Given the description of an element on the screen output the (x, y) to click on. 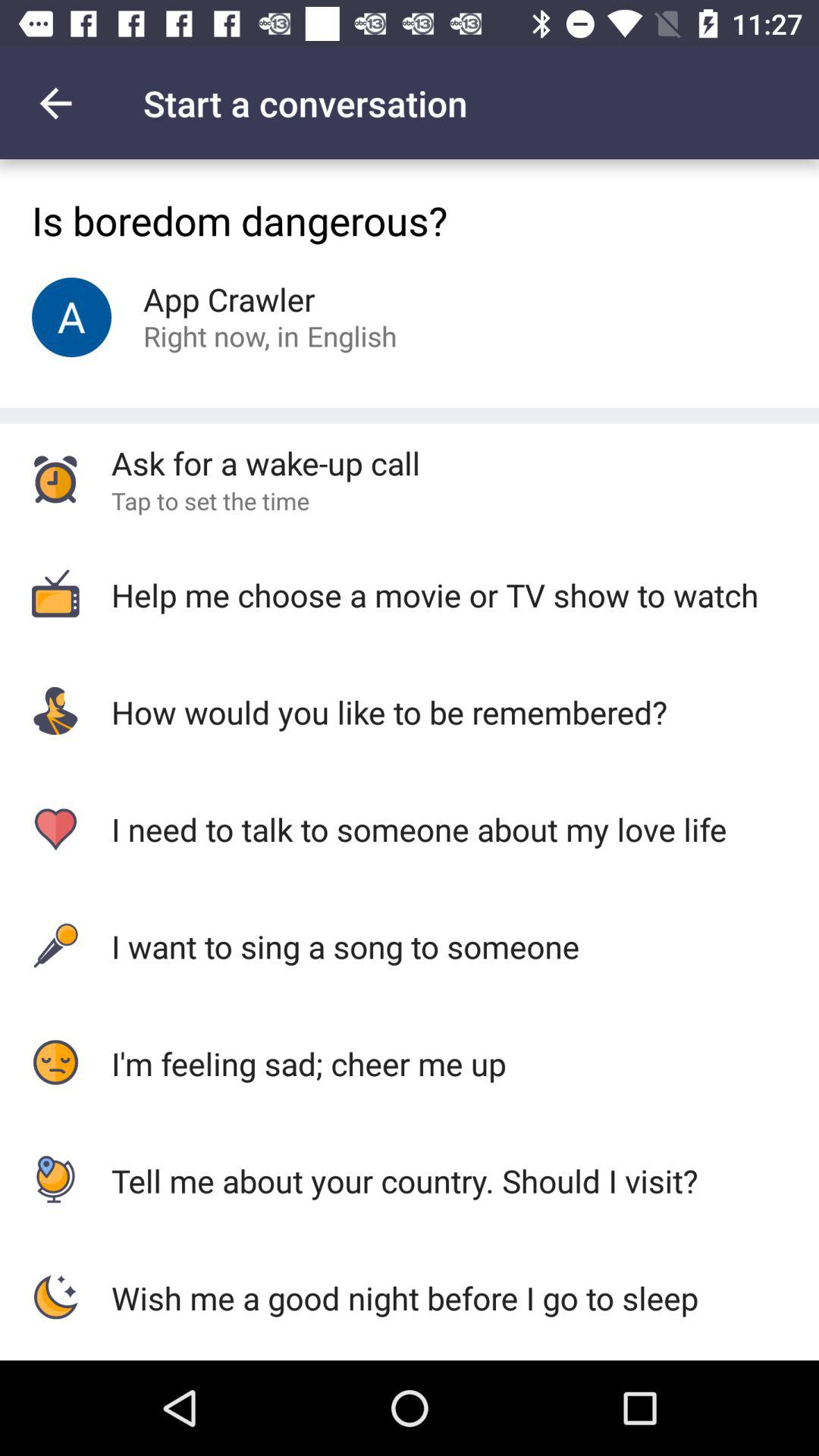
click is boredom dangerous? (409, 218)
